Given the description of an element on the screen output the (x, y) to click on. 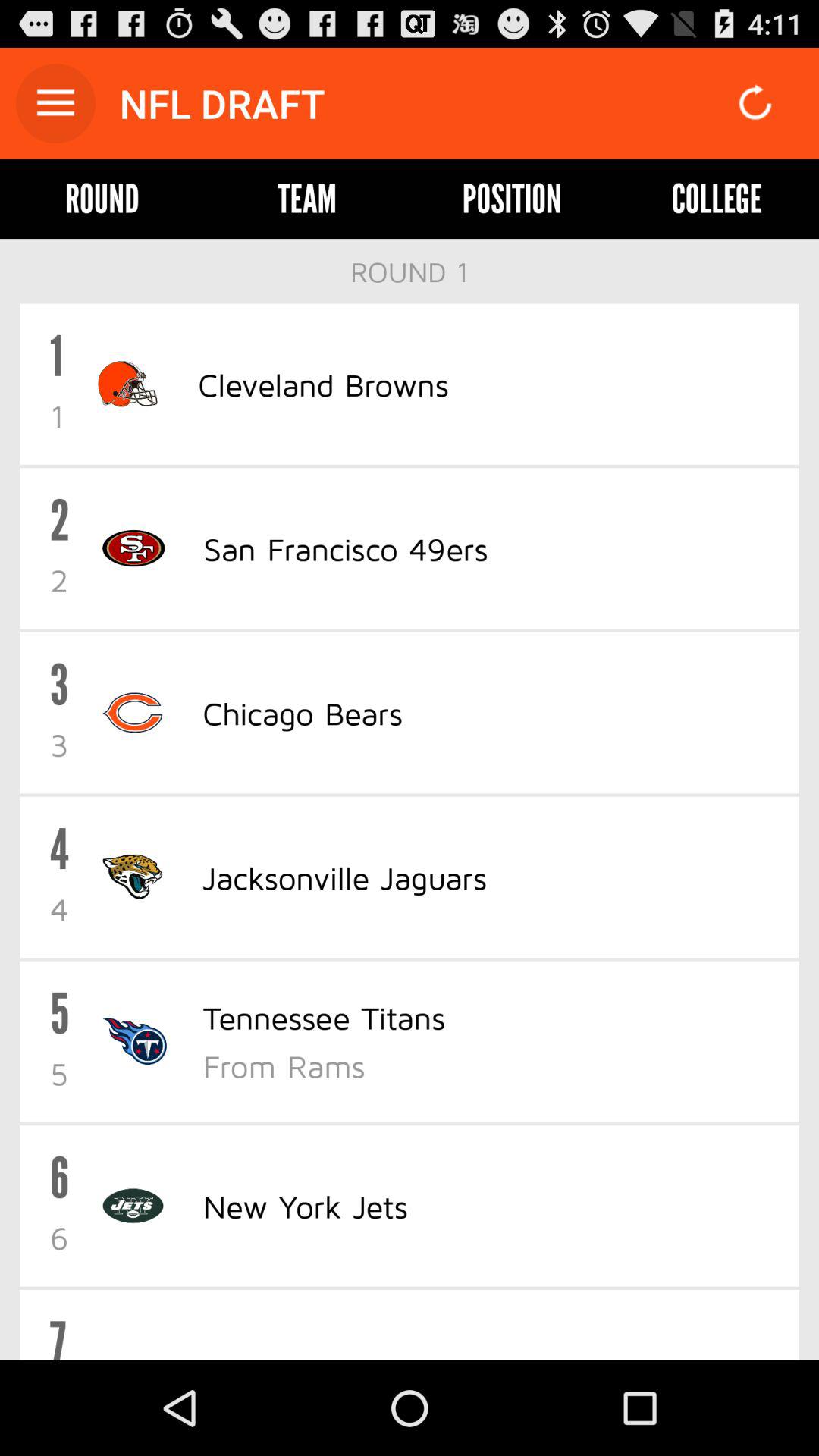
tap the item above the tennessee titans icon (344, 877)
